Given the description of an element on the screen output the (x, y) to click on. 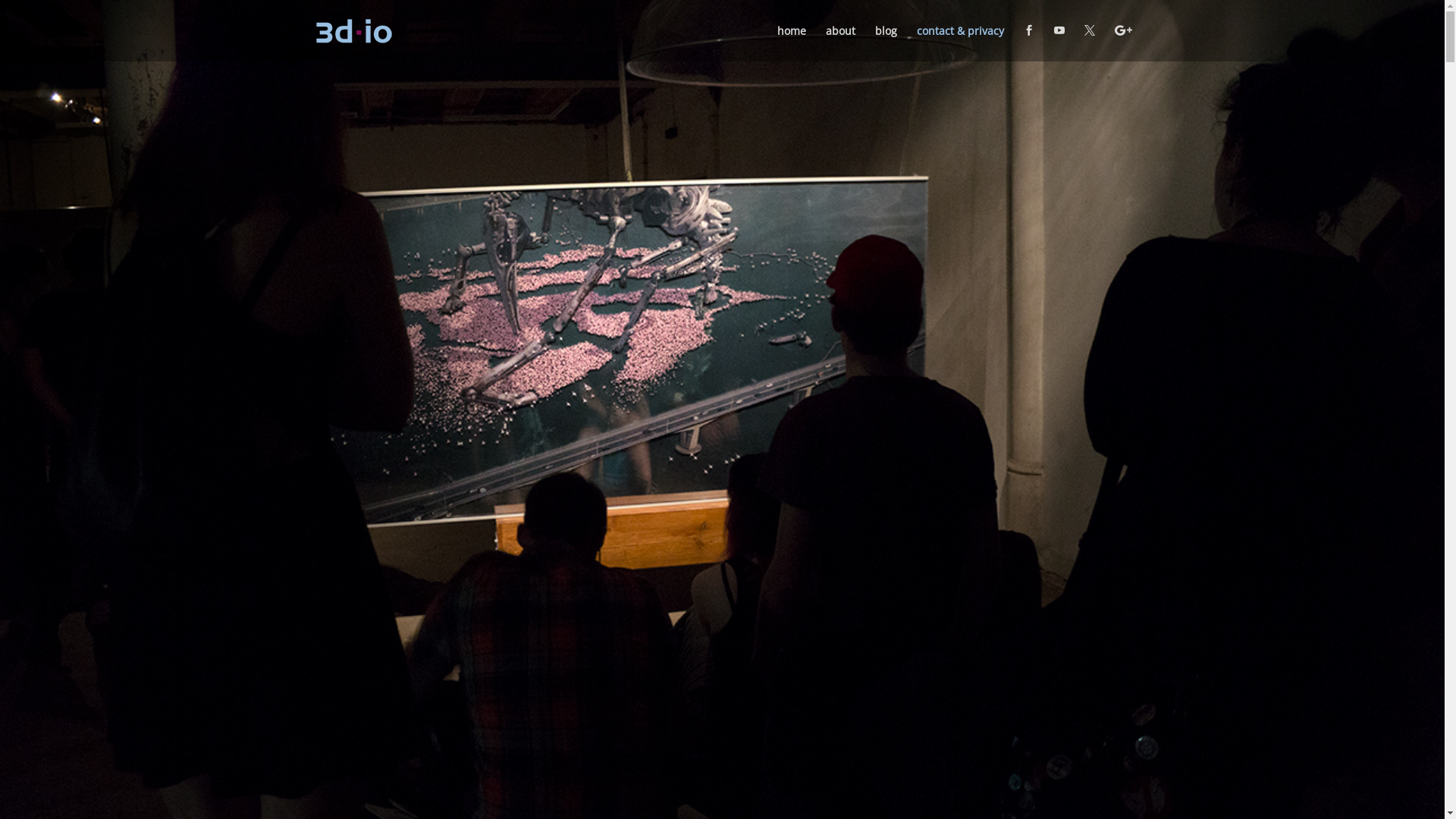
home Element type: text (790, 43)
blog Element type: text (886, 43)
about Element type: text (839, 43)
contact & privacy Element type: text (959, 43)
